Given the description of an element on the screen output the (x, y) to click on. 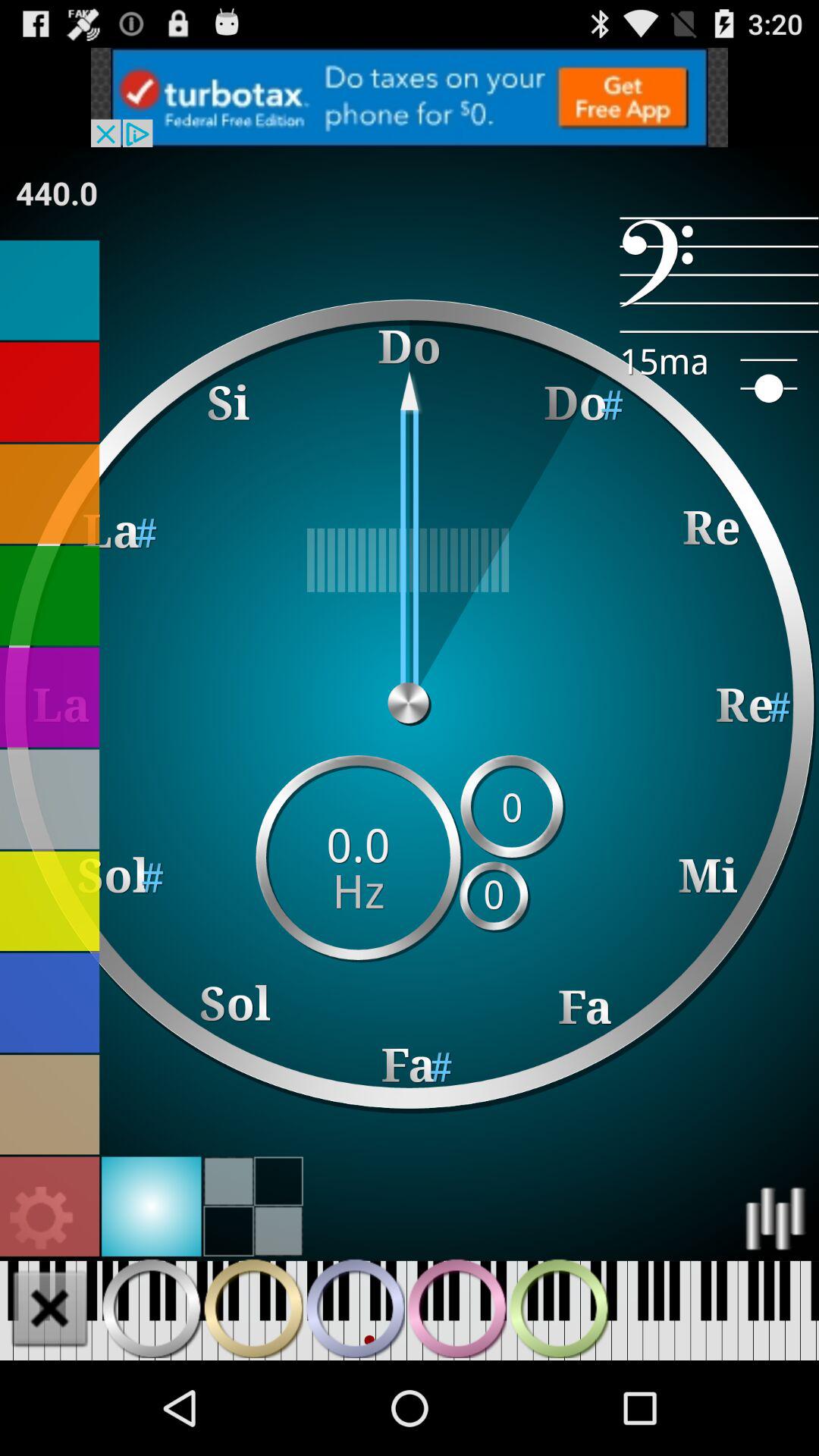
press item below the c a r app (719, 274)
